Given the description of an element on the screen output the (x, y) to click on. 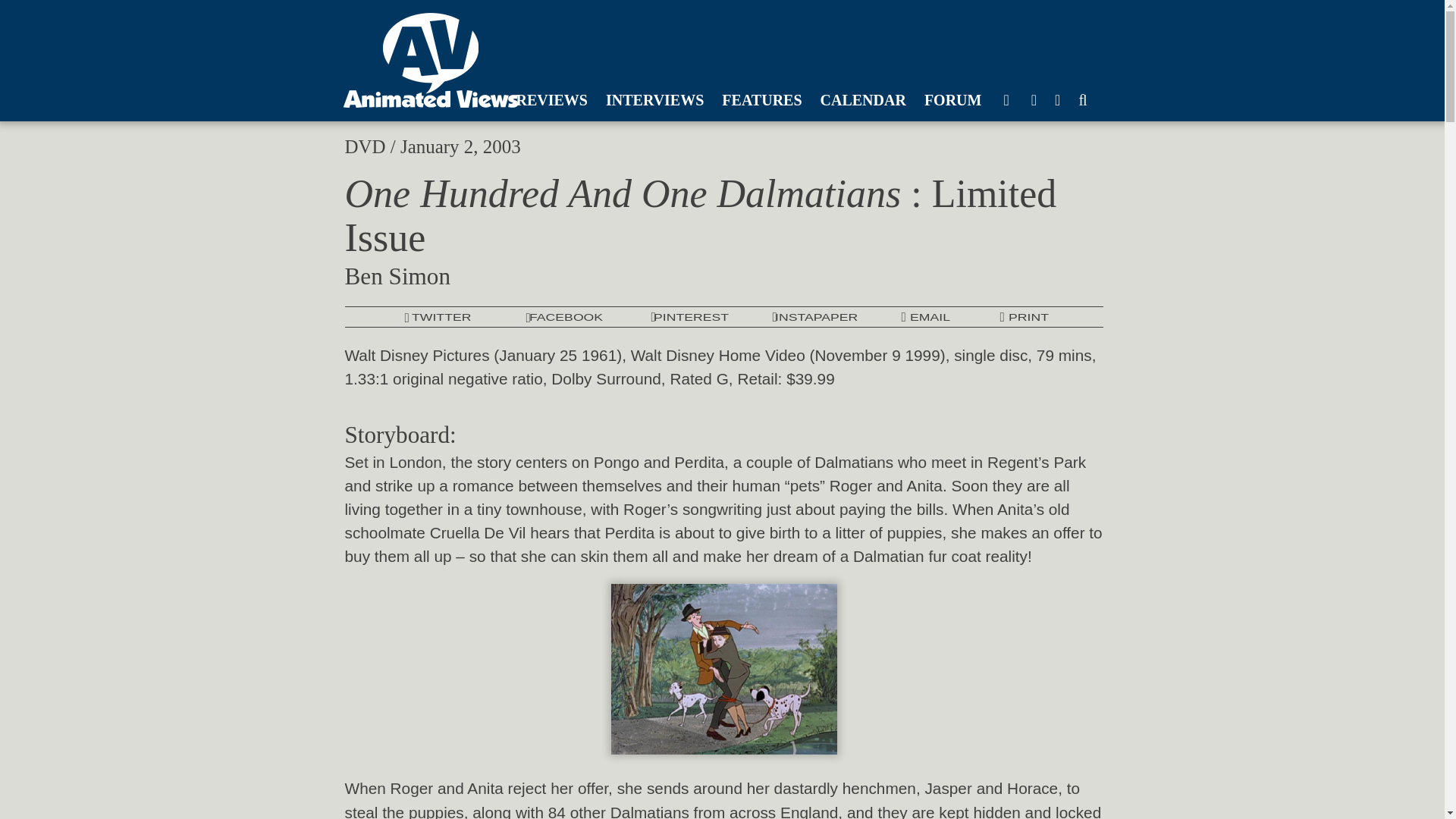
Ben Simon (396, 275)
DVD (364, 146)
